Given the description of an element on the screen output the (x, y) to click on. 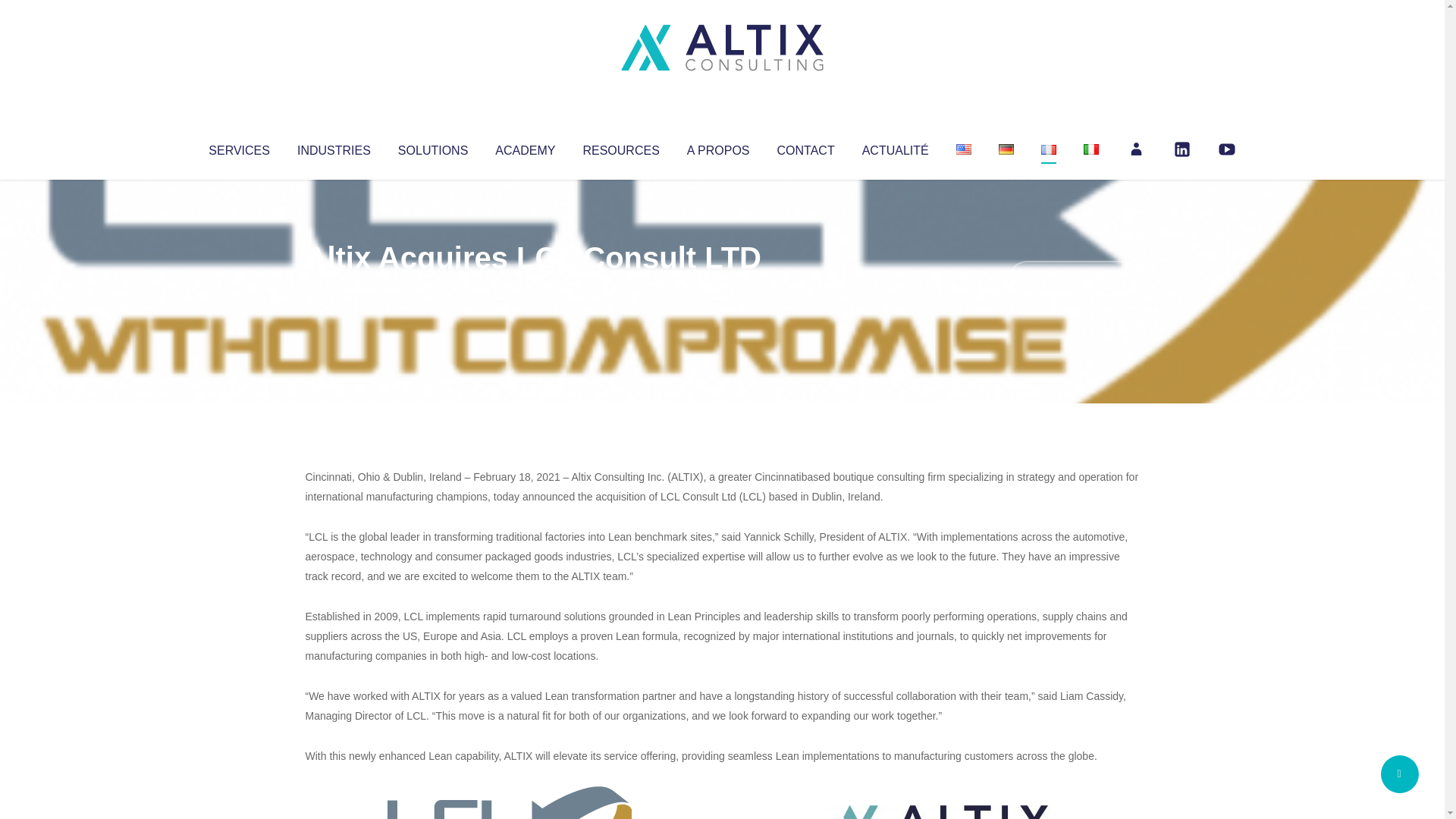
No Comments (1073, 278)
Uncategorized (530, 287)
SOLUTIONS (432, 146)
RESOURCES (620, 146)
A PROPOS (718, 146)
Altix (333, 287)
INDUSTRIES (334, 146)
SERVICES (238, 146)
ACADEMY (524, 146)
Articles par Altix (333, 287)
